Given the description of an element on the screen output the (x, y) to click on. 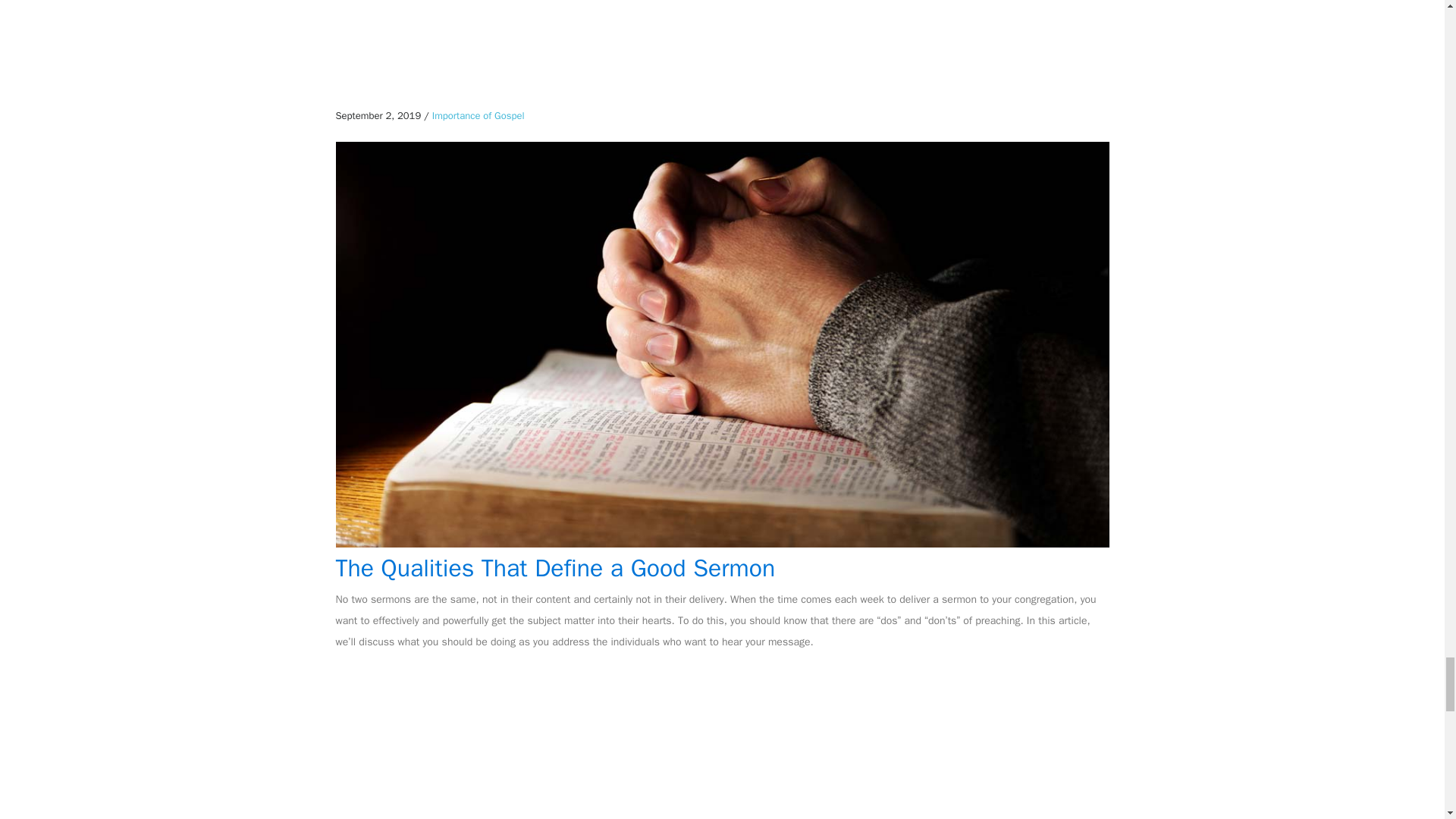
The Qualities That Define a Good Sermon (554, 567)
Importance of Gospel (478, 115)
Importance of Gospel (478, 115)
